Given the description of an element on the screen output the (x, y) to click on. 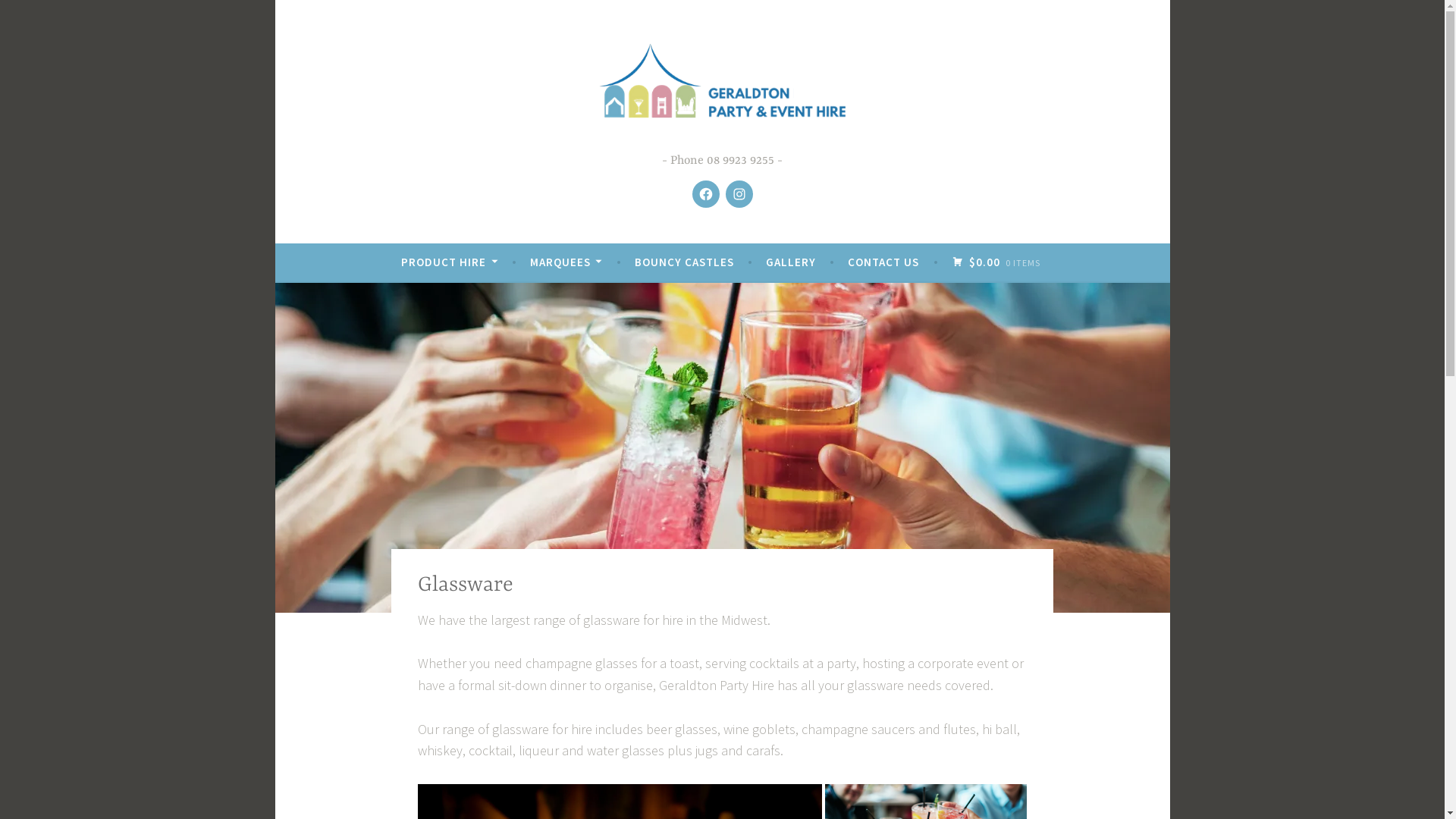
PRODUCT HIRE Element type: text (449, 262)
MARQUEES Element type: text (566, 262)
Instagram page Element type: text (738, 193)
Facebook page Element type: text (704, 193)
$0.00 0 ITEMS Element type: text (995, 262)
CONTACT US Element type: text (883, 262)
GALLERY Element type: text (790, 262)
BOUNCY CASTLES Element type: text (684, 262)
